Given the description of an element on the screen output the (x, y) to click on. 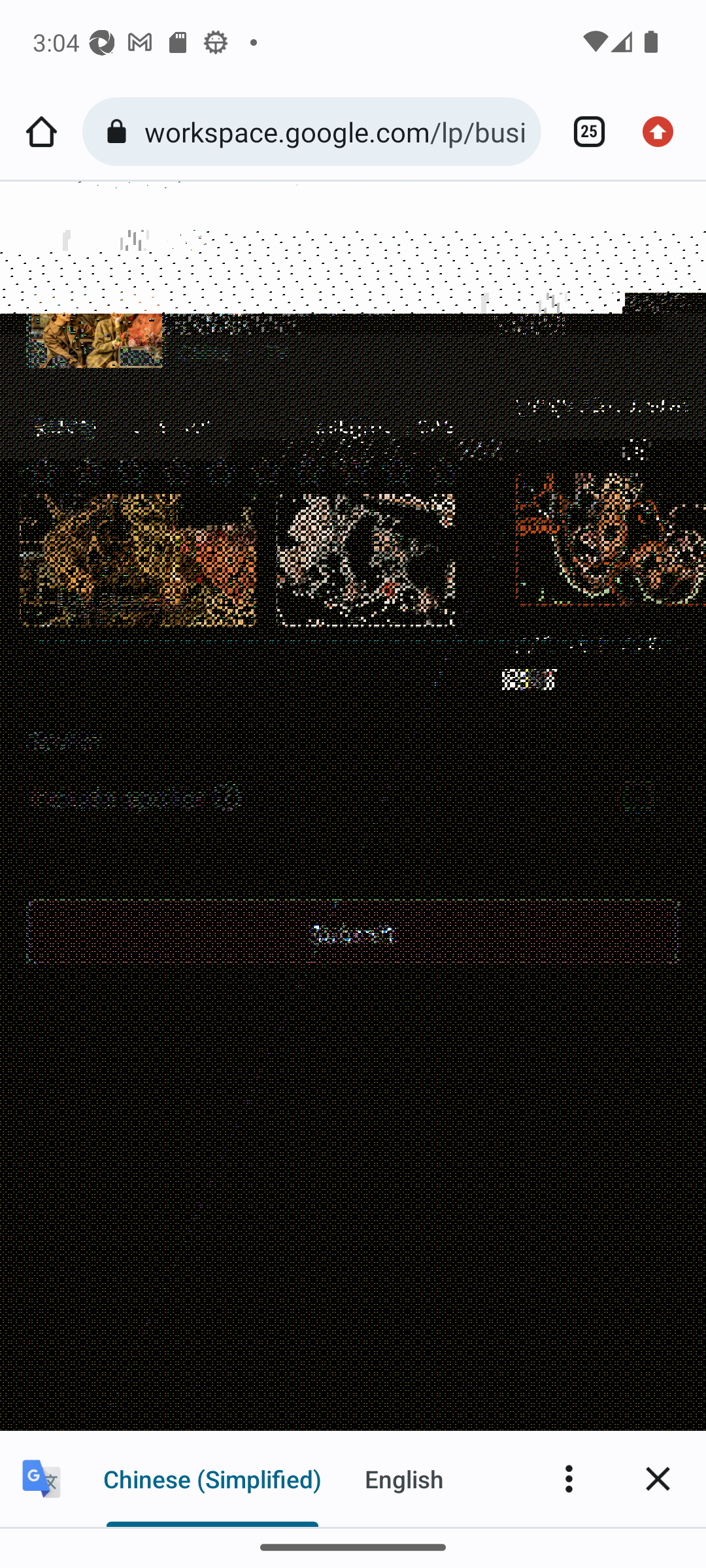
Home (41, 131)
Connection is secure (120, 131)
Switch or close tabs (582, 131)
Update available. More options (664, 131)
English (403, 1478)
More options (568, 1478)
Close (657, 1478)
